Given the description of an element on the screen output the (x, y) to click on. 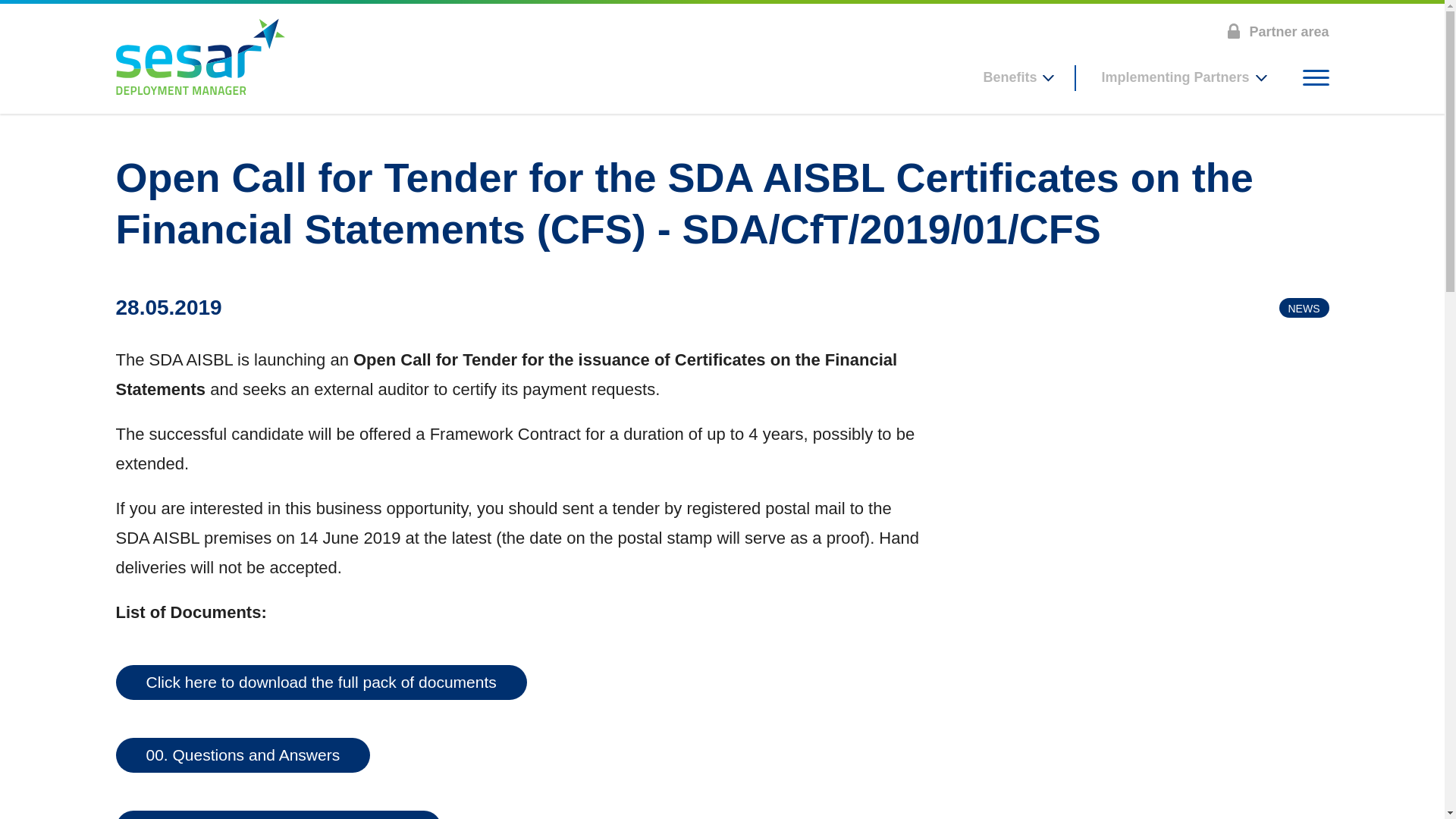
Click here to download the full pack of documents (320, 682)
Implementing Partners (1181, 77)
Partner area (1277, 26)
Benefits (1016, 77)
Implementing Partners (1181, 77)
Benefits (1016, 77)
Menu (1316, 77)
SESAR DM (199, 56)
